Given the description of an element on the screen output the (x, y) to click on. 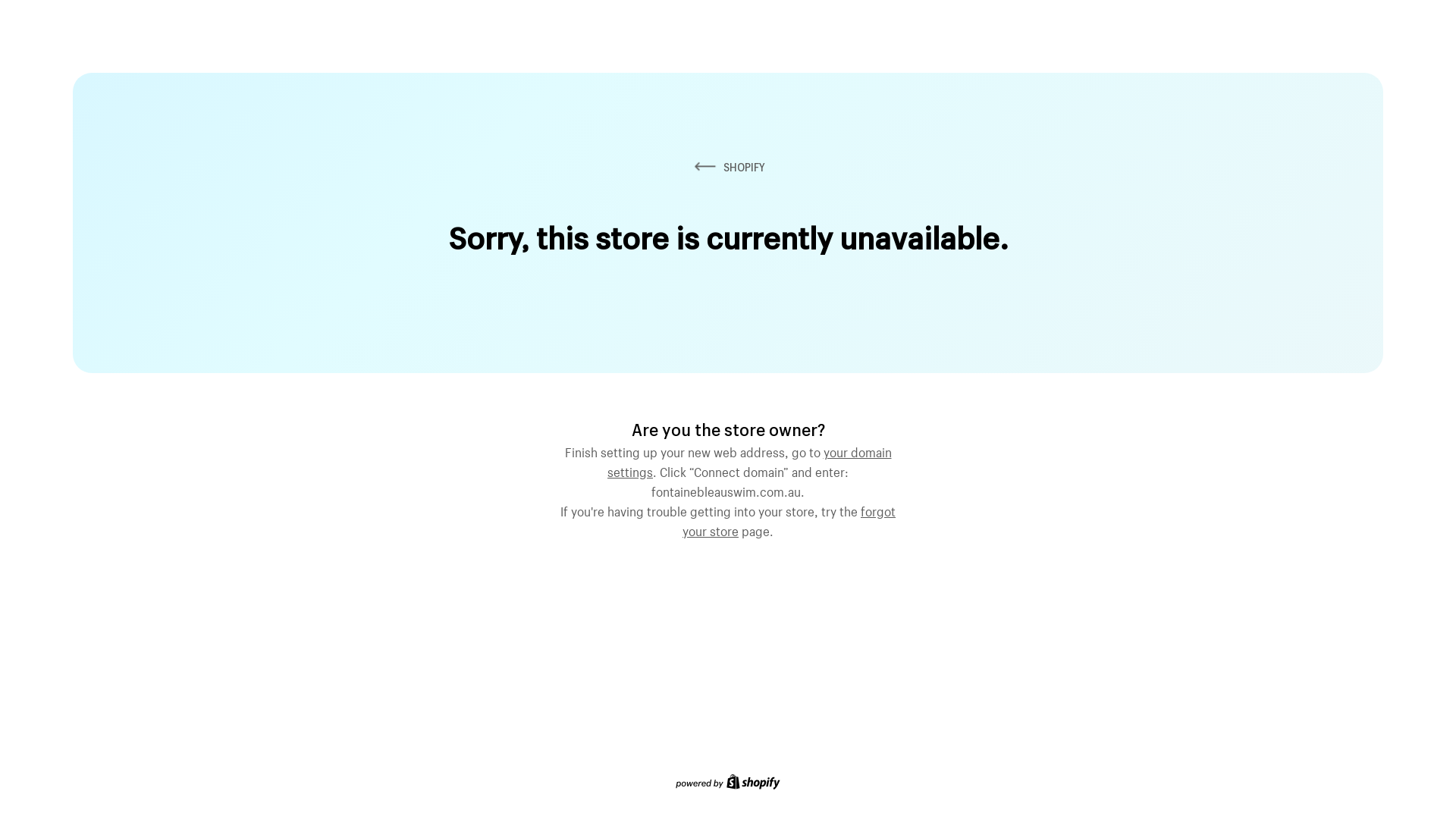
forgot your store Element type: text (788, 519)
your domain settings Element type: text (749, 460)
SHOPIFY Element type: text (727, 167)
